Given the description of an element on the screen output the (x, y) to click on. 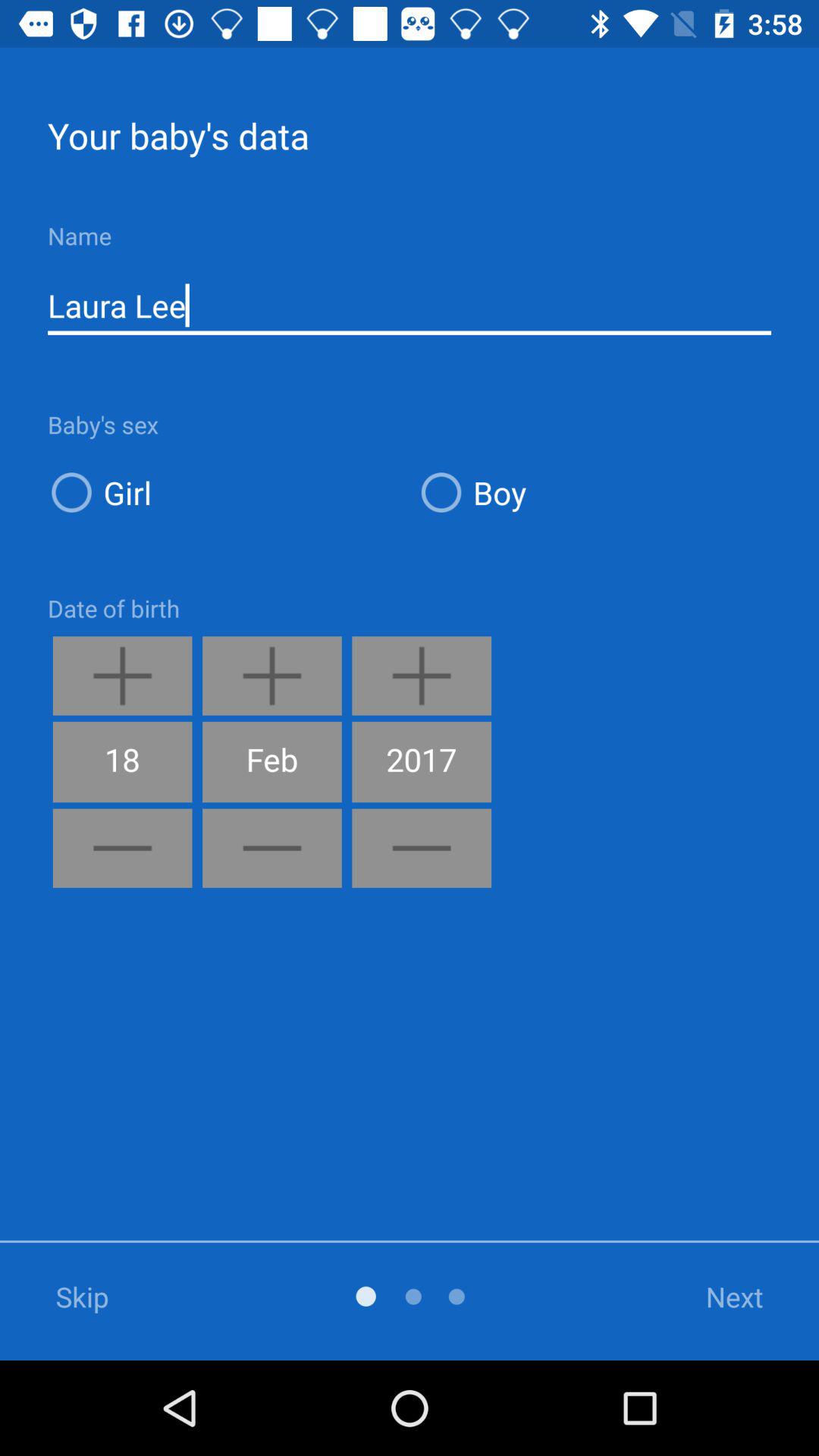
turn on the icon on the right (594, 492)
